Given the description of an element on the screen output the (x, y) to click on. 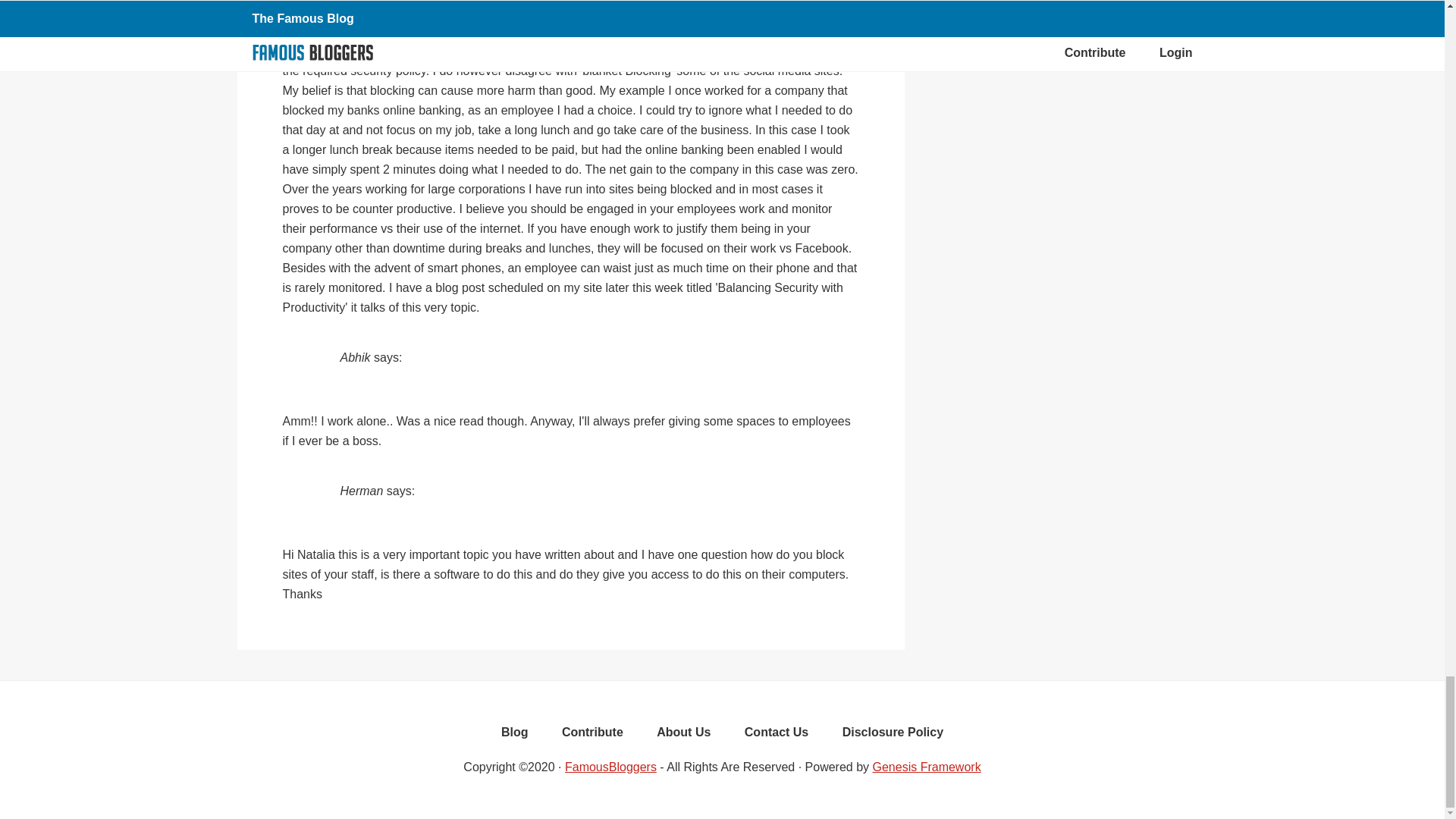
About Us (683, 736)
Blog (514, 736)
Contribute (593, 736)
